Given the description of an element on the screen output the (x, y) to click on. 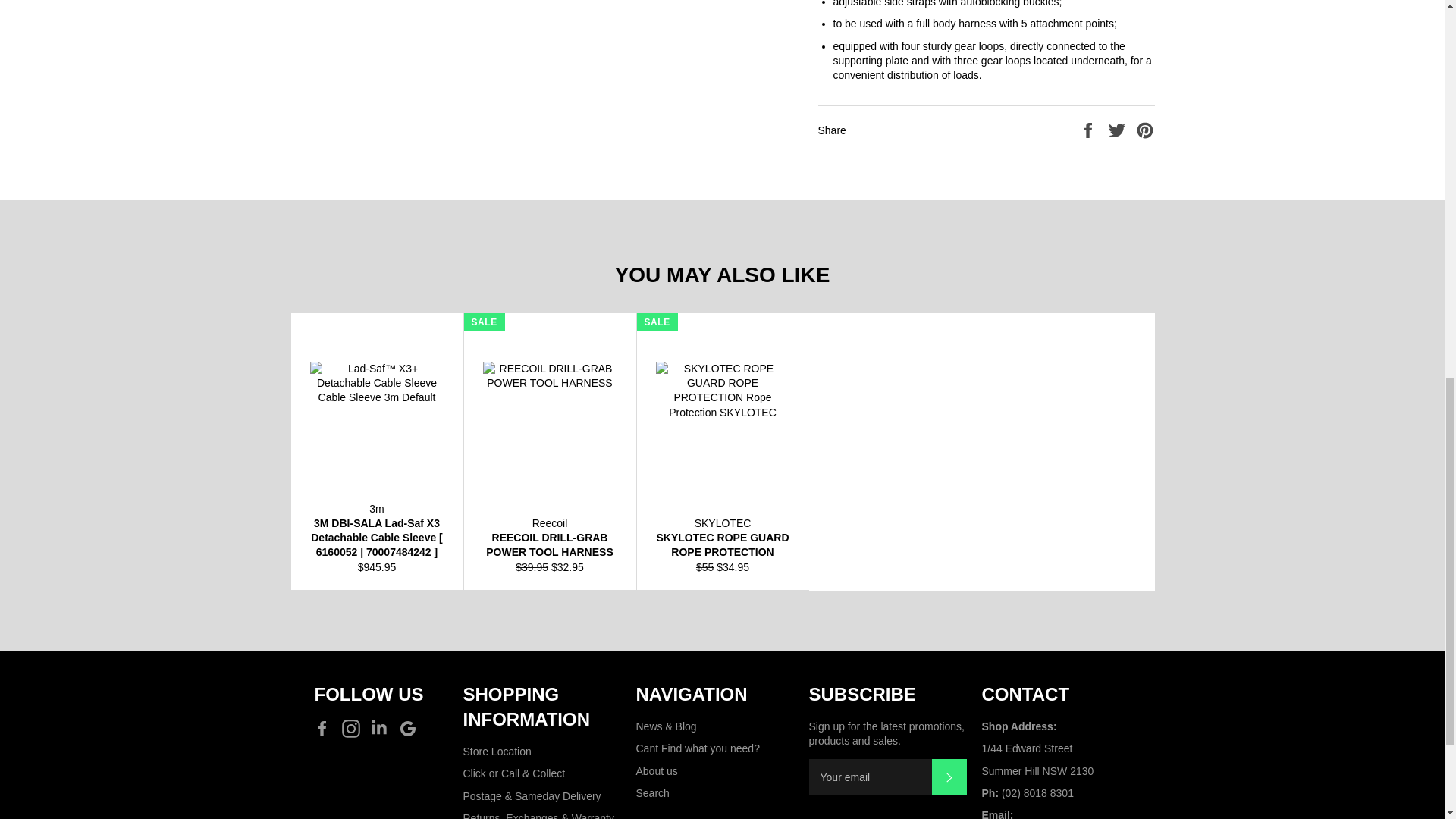
Harness Equipment on Facebook (326, 728)
Harness Equipment on Google (411, 728)
Harness Equipment on LinkedIn (382, 728)
Pin on Pinterest (1144, 129)
Share on Facebook (1089, 129)
Tweet on Twitter (1118, 129)
Harness Equipment on Instagram (355, 728)
